Given the description of an element on the screen output the (x, y) to click on. 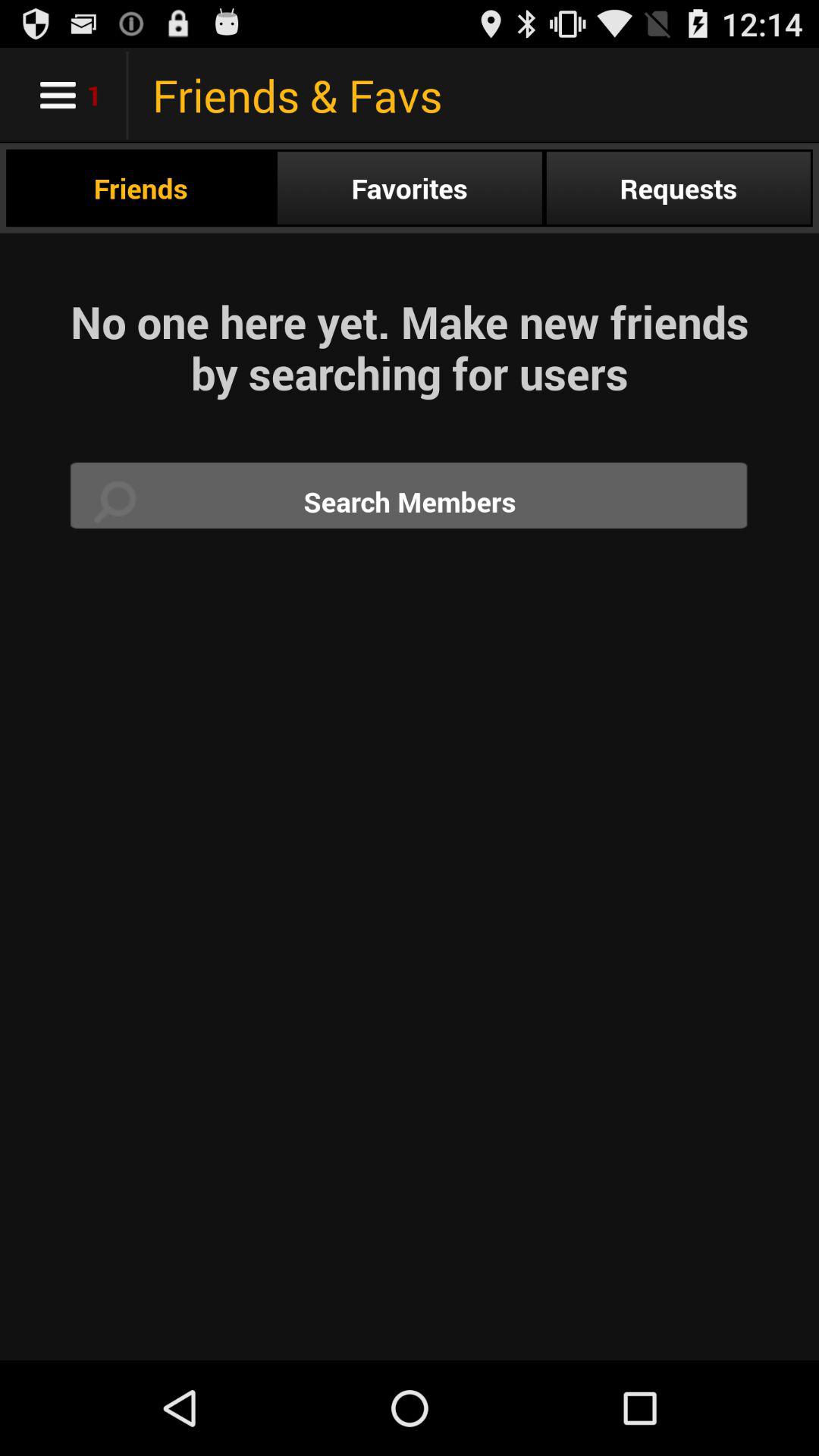
select the item to the right of the friends item (409, 187)
